Given the description of an element on the screen output the (x, y) to click on. 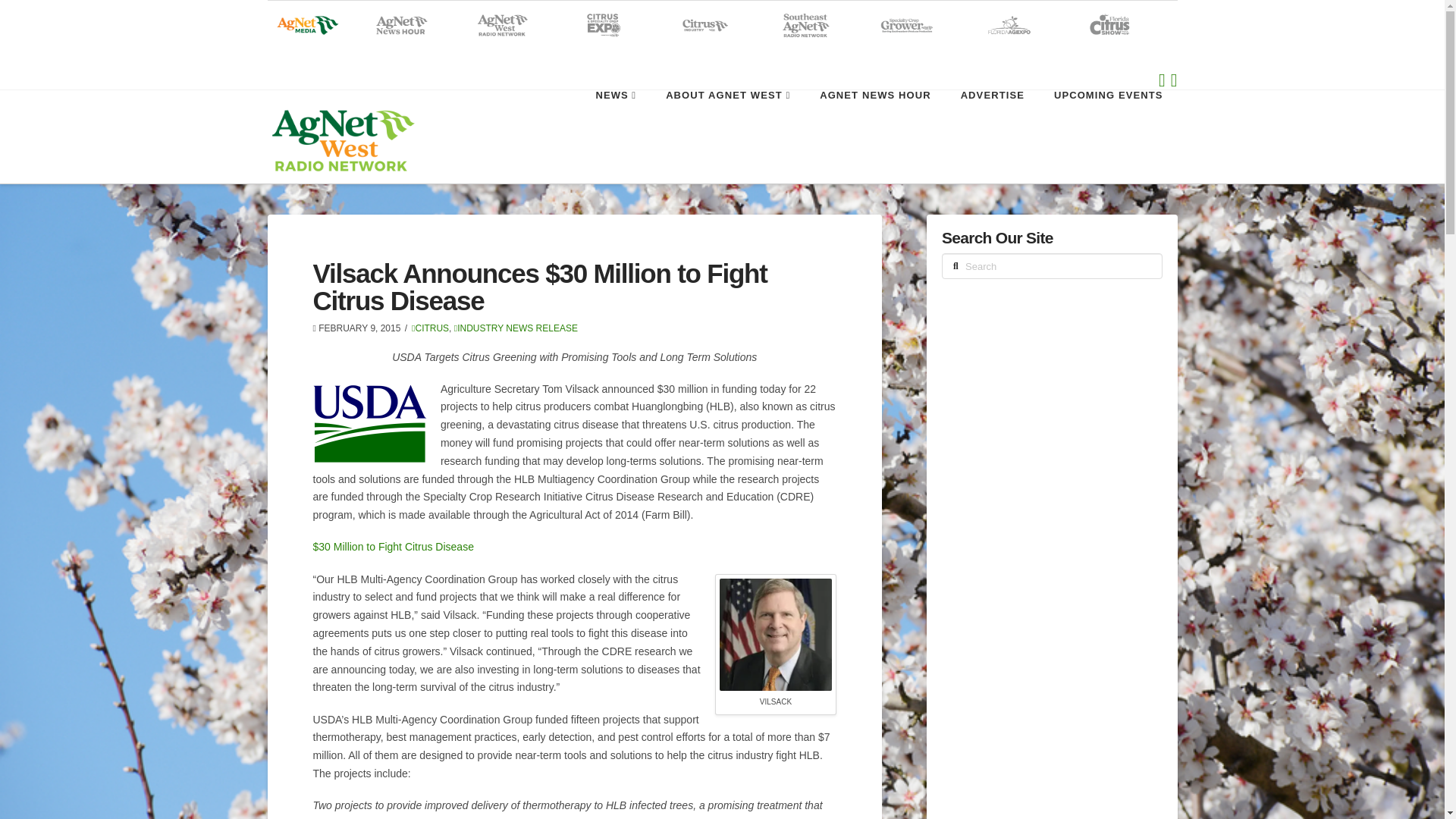
NEWS (614, 124)
